Given the description of an element on the screen output the (x, y) to click on. 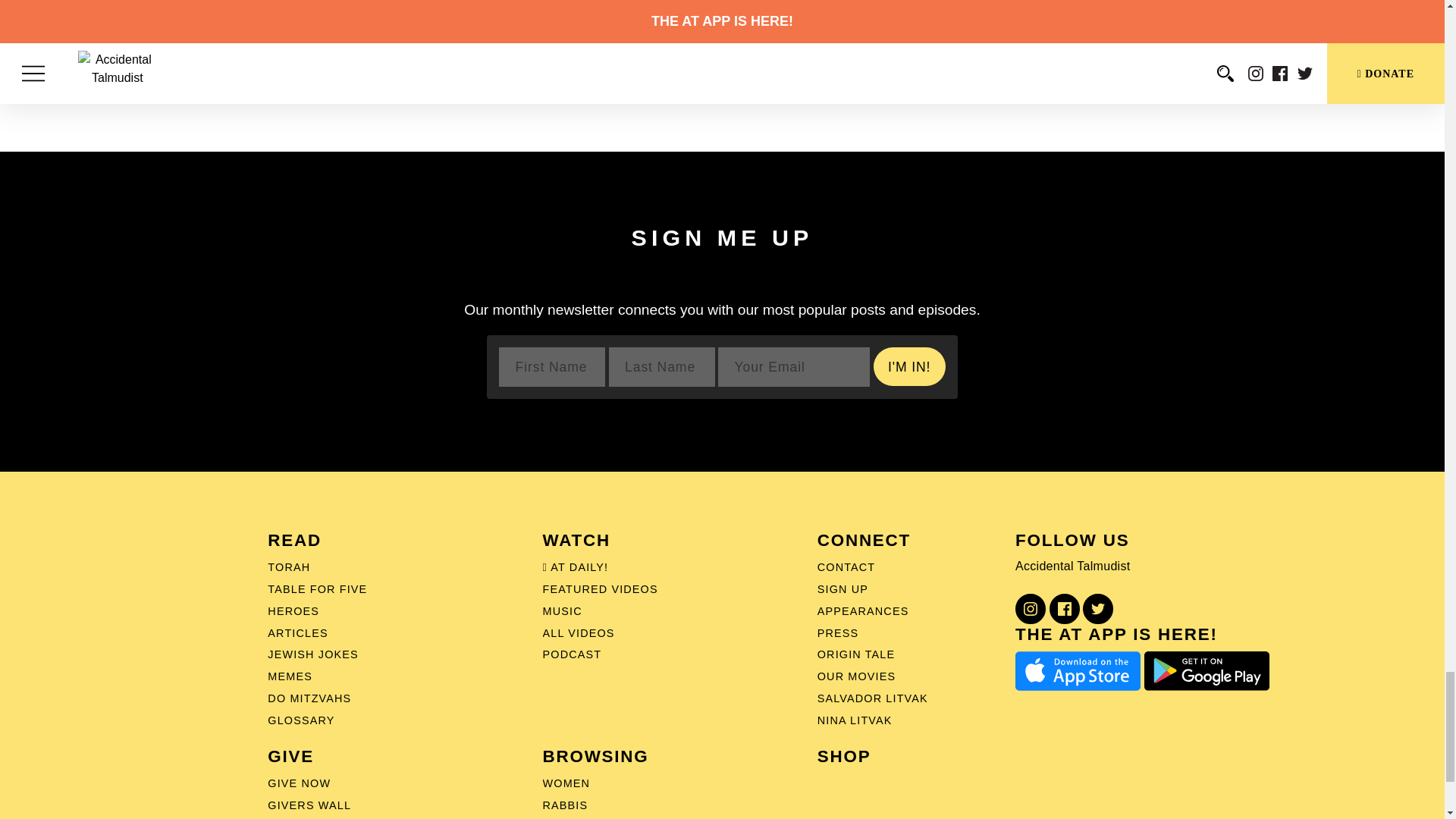
I'm In! (908, 366)
